Given the description of an element on the screen output the (x, y) to click on. 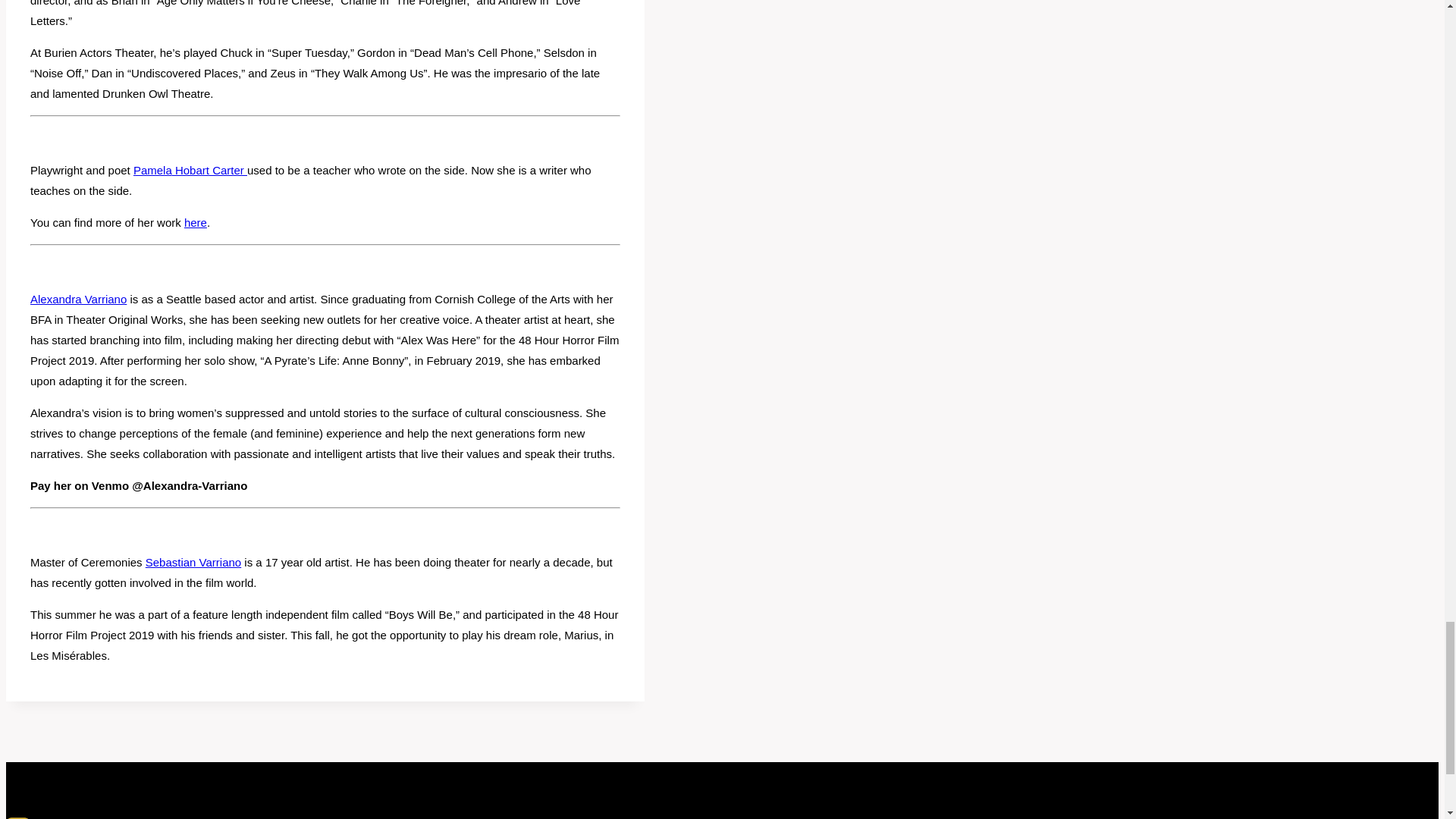
Alexandra Varriano (78, 298)
here (195, 222)
Pamela (152, 169)
Sebastian Varriano (193, 562)
 Hobart Carter  (209, 169)
Instagram (17, 818)
